Given the description of an element on the screen output the (x, y) to click on. 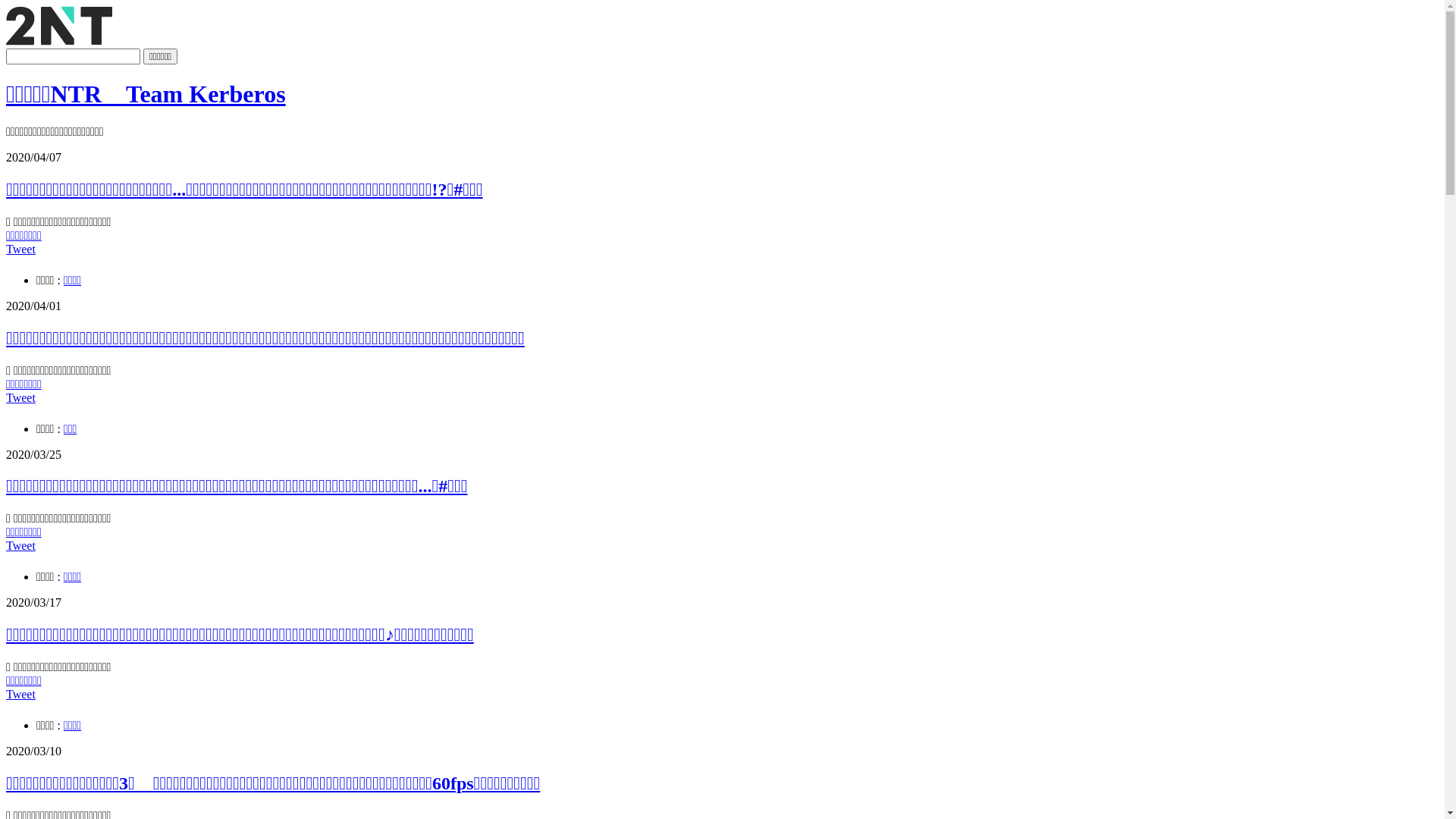
Tweet Element type: text (20, 248)
Tweet Element type: text (20, 397)
Tweet Element type: text (20, 545)
Tweet Element type: text (20, 693)
